Given the description of an element on the screen output the (x, y) to click on. 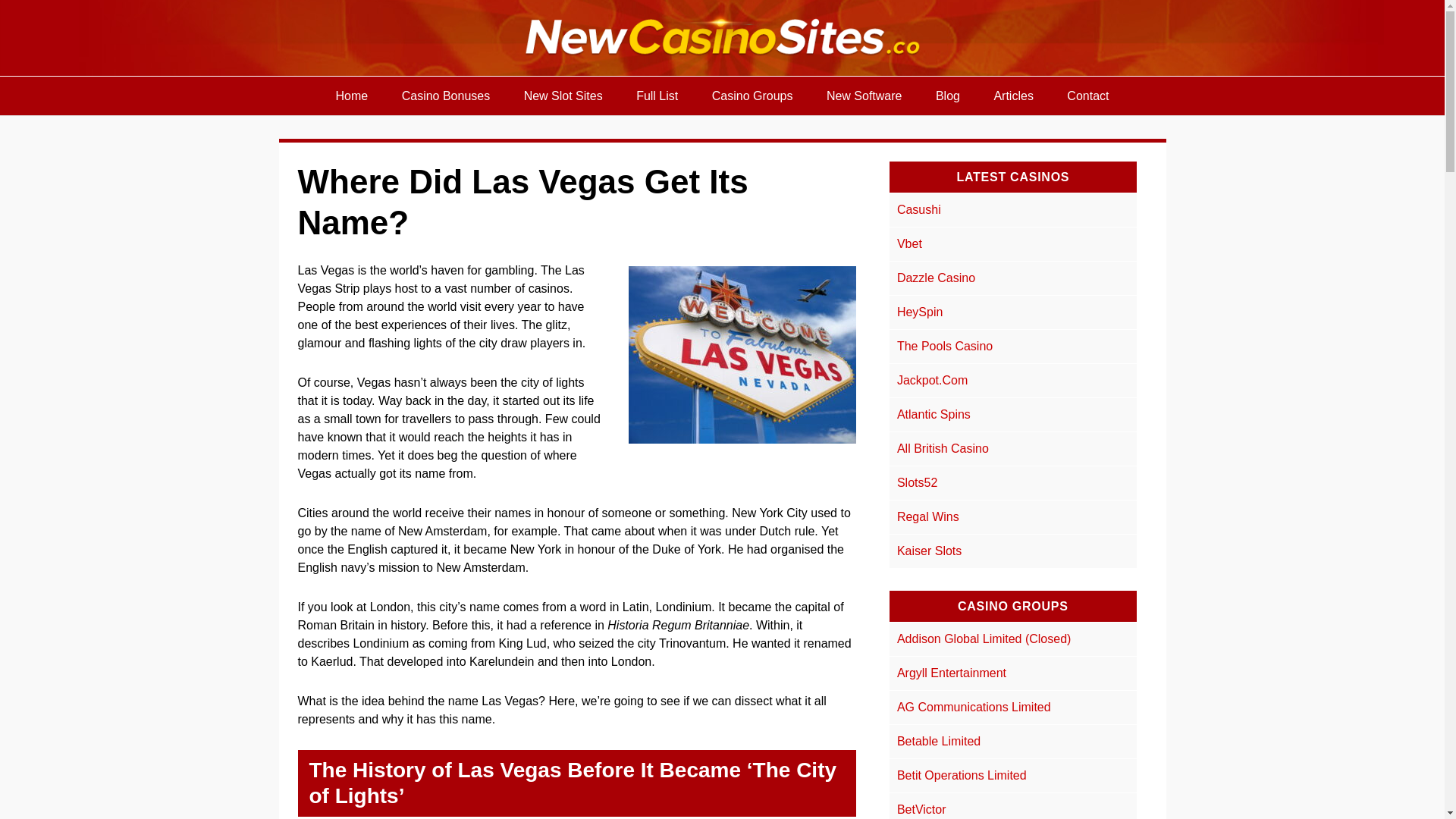
Vbet (908, 243)
Atlantic Spins (933, 413)
Home (352, 95)
All British Casino (942, 448)
Kaiser Slots (928, 550)
Betit Operations Limited (961, 775)
Articles (1013, 95)
BetVictor (921, 809)
Regal Wins (927, 516)
New Slot Sites (562, 95)
